Given the description of an element on the screen output the (x, y) to click on. 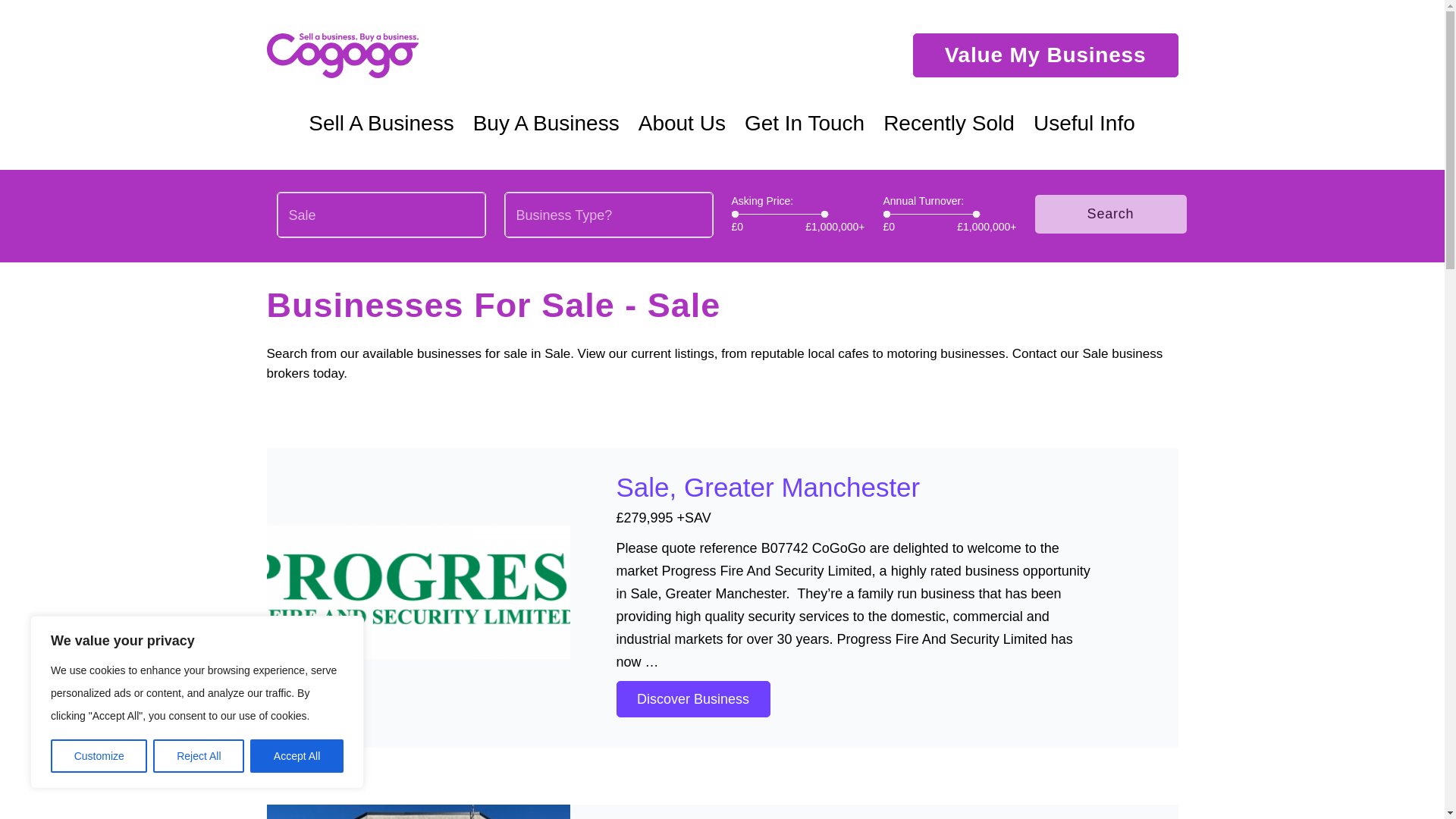
Customize (98, 756)
Reject All (198, 756)
Discover Business (693, 698)
Sell A Business (381, 123)
Search (1109, 213)
Useful Info (1084, 123)
Value My Business (1044, 54)
Get In Touch (805, 123)
Recently Sold (950, 123)
Sale (381, 215)
Business Type? (609, 215)
Accept All (296, 756)
Sale (381, 215)
About Us (681, 123)
Buy A Business (546, 123)
